Given the description of an element on the screen output the (x, y) to click on. 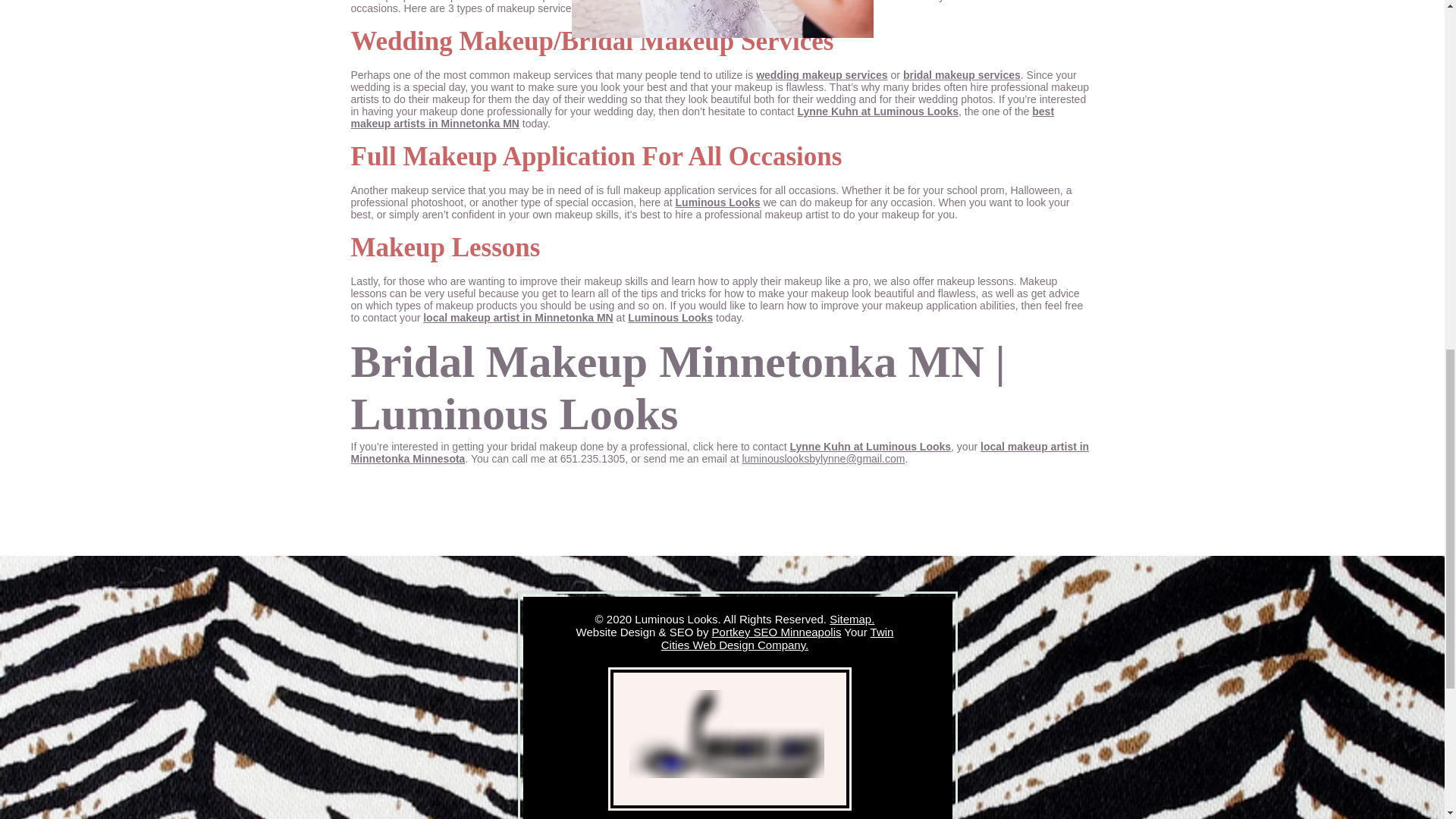
Lynne Kuhn at Luminous Looks (877, 111)
bridal makeup services (961, 74)
local makeup artist in Minnetonka MN (517, 317)
Twin Cities Web Design Company. (777, 638)
wedding makeup services (821, 74)
Sitemap. (852, 618)
Luminous Looks (670, 317)
Portkey SEO Minneapolis (776, 631)
best makeup artists in Minnetonka MN (702, 117)
Luminous Looks (717, 202)
local makeup artist in Minnetonka Minnesota (719, 452)
Lynne Kuhn at Luminous Looks (871, 446)
